Given the description of an element on the screen output the (x, y) to click on. 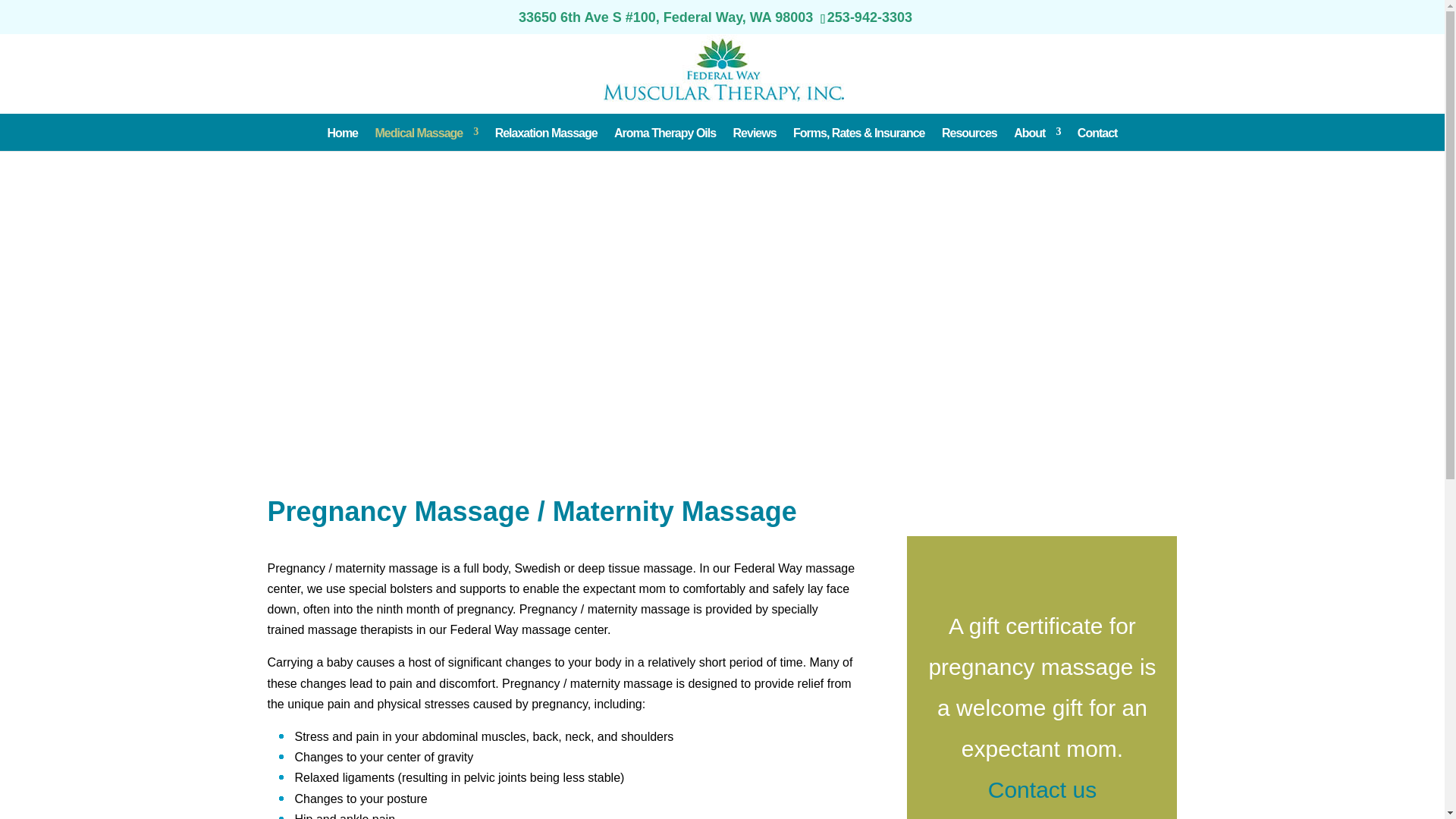
Contact (1097, 131)
Medical Massage (425, 131)
Reviews (754, 131)
Resources (969, 131)
Aroma Therapy Oils (665, 131)
About (1036, 131)
Relaxation Massage (545, 131)
